Given the description of an element on the screen output the (x, y) to click on. 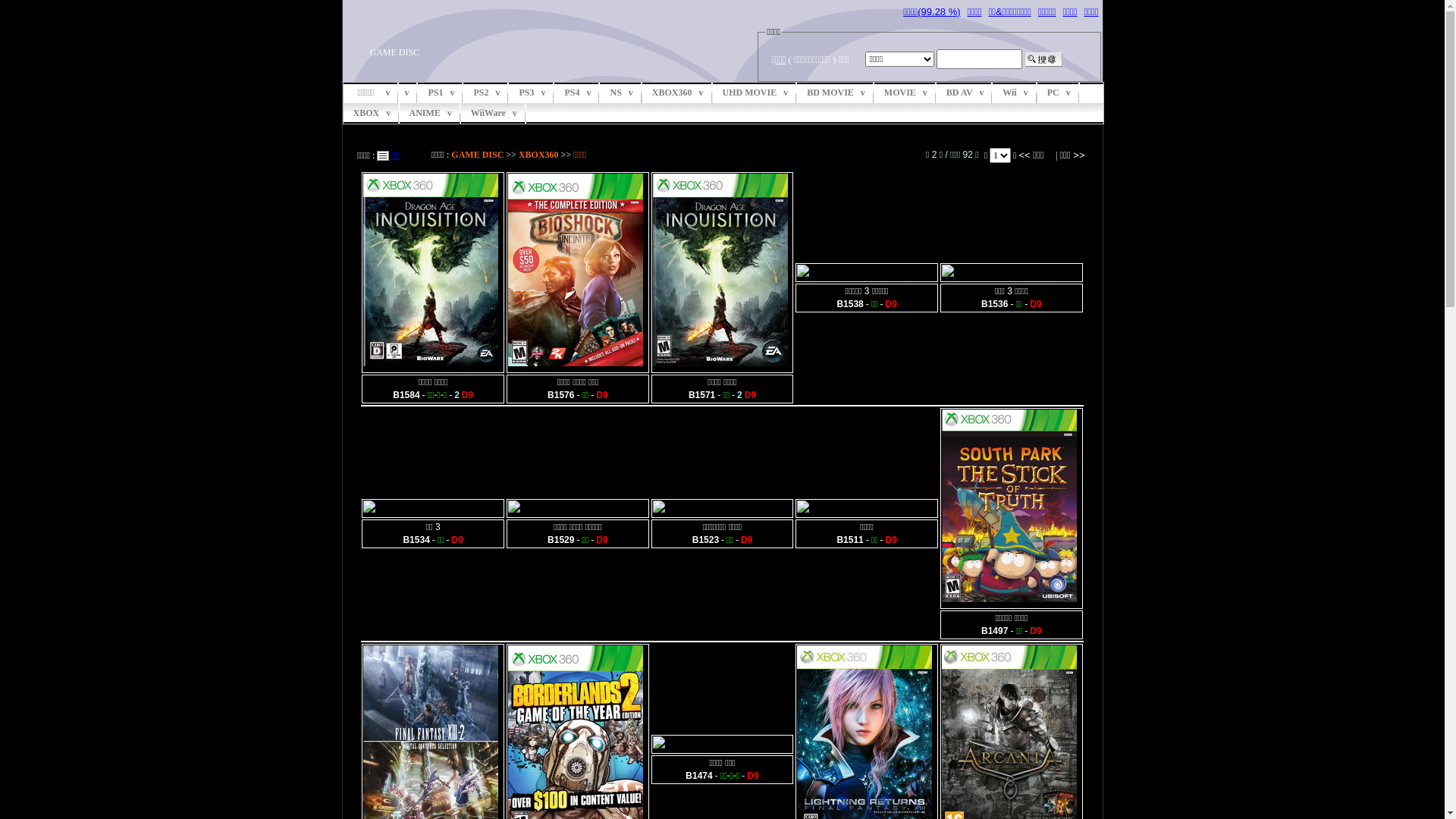
  XBOX360   Element type: text (677, 92)
  PC   Element type: text (1058, 92)
  PS4   Element type: text (576, 92)
  NS   Element type: text (620, 92)
  PS1   Element type: text (440, 92)
  XBOX   Element type: text (370, 113)
  BD MOVIE   Element type: text (835, 92)
  WiiWare   Element type: text (493, 113)
XBOX360 Element type: text (538, 154)
  PS2   Element type: text (485, 92)
  Wii   Element type: text (1014, 92)
  PS3   Element type: text (531, 92)
  UHD MOVIE   Element type: text (754, 92)
  ANIME   Element type: text (430, 113)
GAME DISC Element type: text (477, 154)
  BD AV   Element type: text (964, 92)
  MOVIE   Element type: text (905, 92)
